Given the description of an element on the screen output the (x, y) to click on. 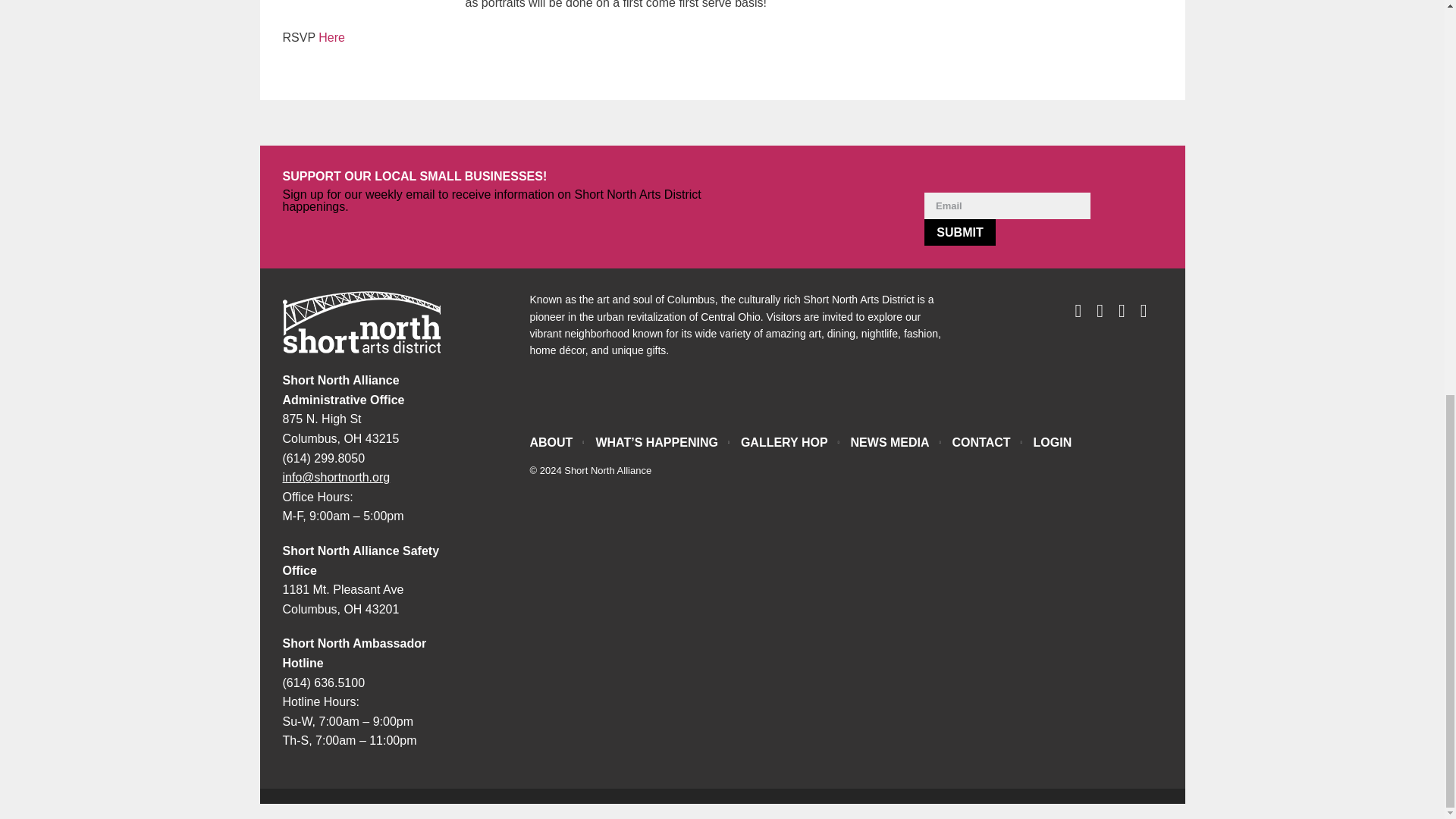
Submit (959, 232)
